Given the description of an element on the screen output the (x, y) to click on. 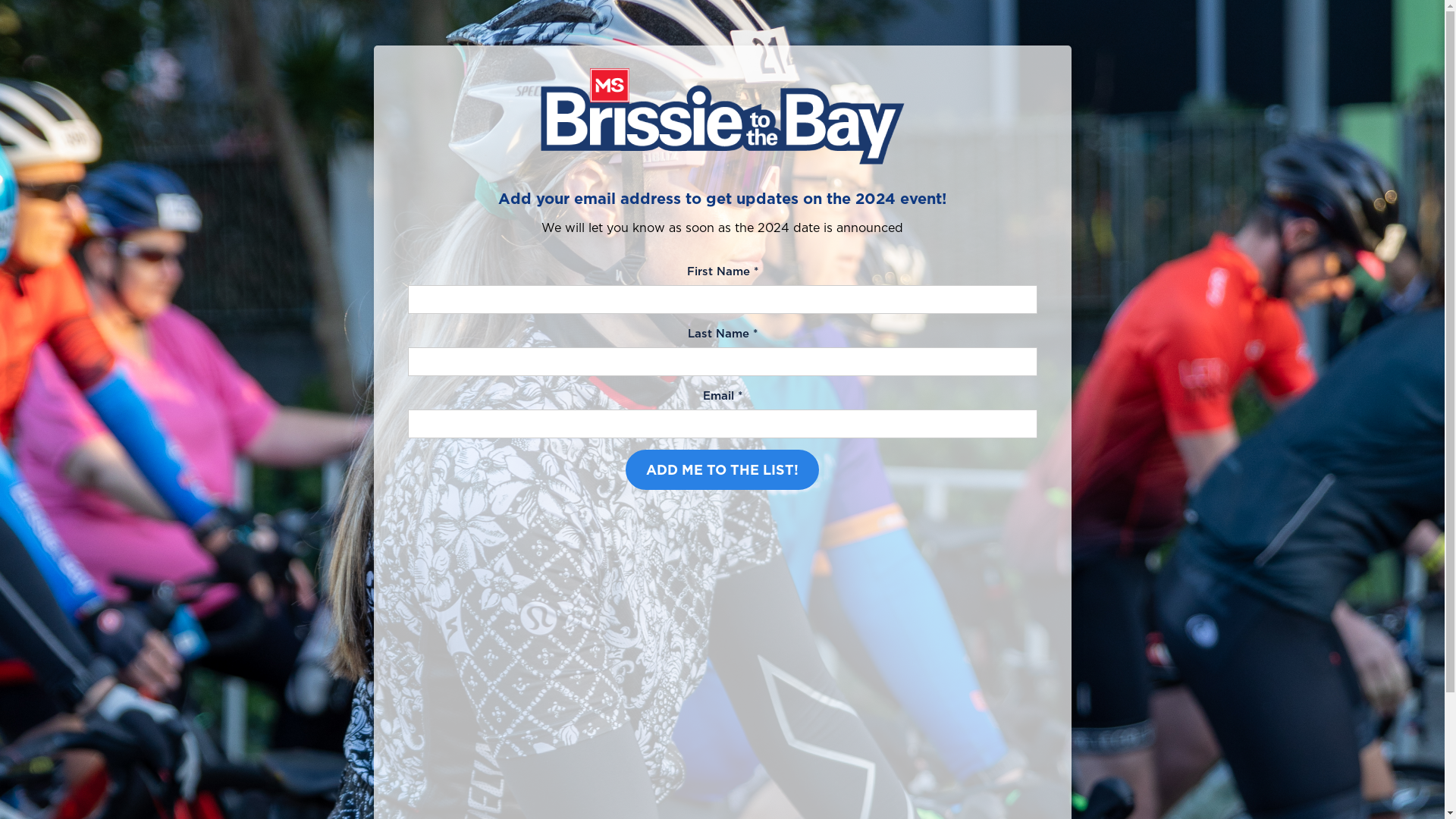
YouTube video player Element type: hover (722, 666)
ADD ME TO THE LIST! Element type: text (722, 469)
